Given the description of an element on the screen output the (x, y) to click on. 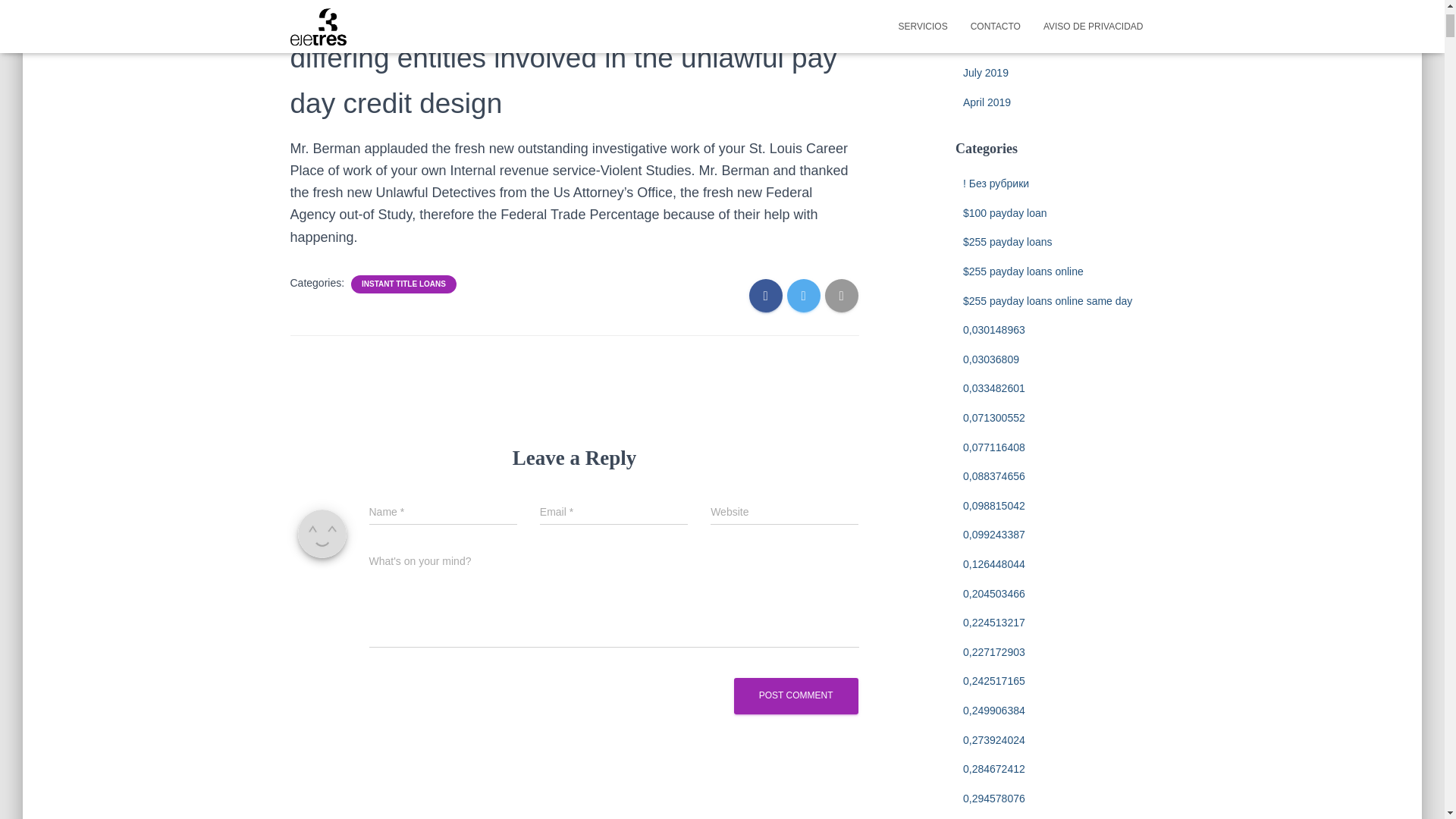
Post Comment (796, 695)
INSTANT TITLE LOANS (402, 284)
Post Comment (796, 695)
